Given the description of an element on the screen output the (x, y) to click on. 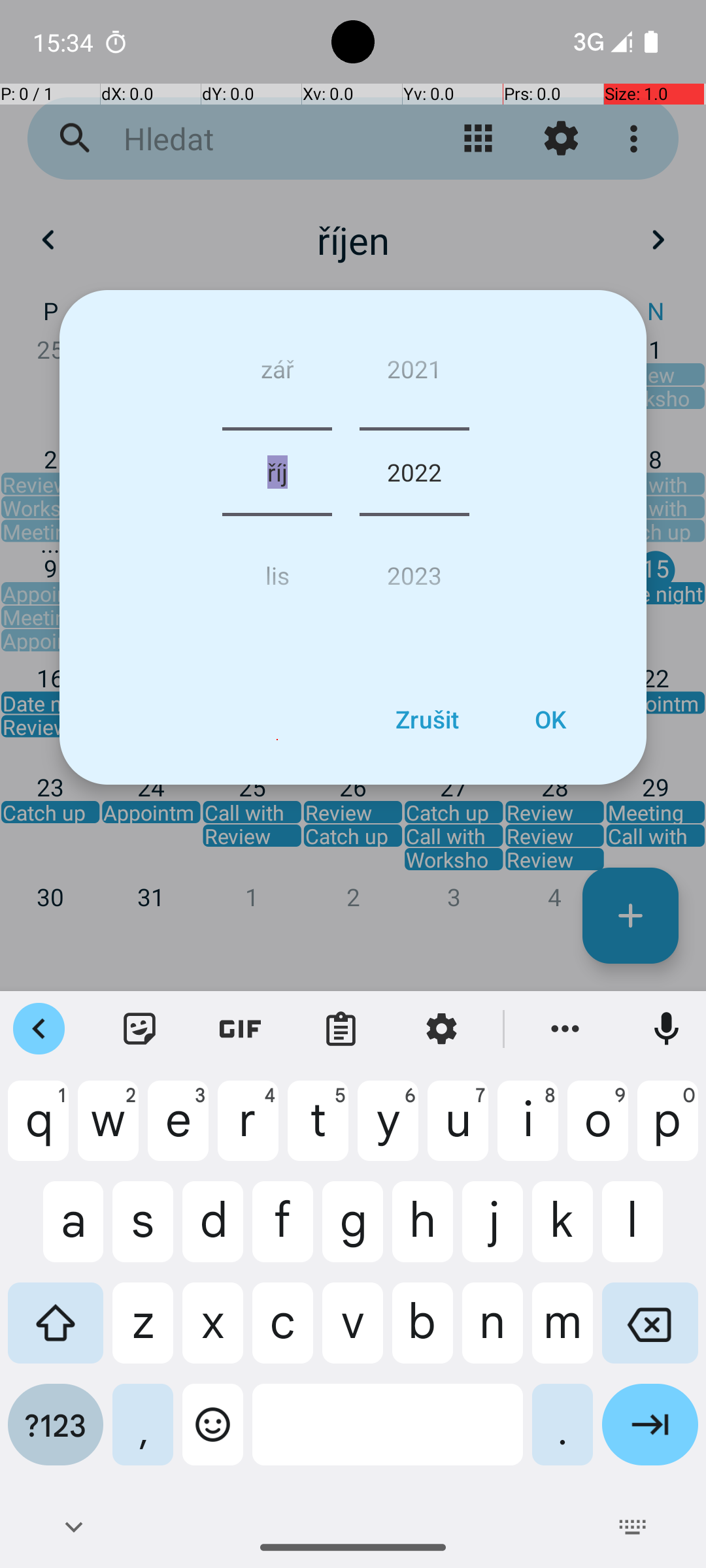
zář Element type: android.widget.Button (277, 373)
říj Element type: android.widget.EditText (277, 471)
lis Element type: android.widget.Button (277, 569)
